Given the description of an element on the screen output the (x, y) to click on. 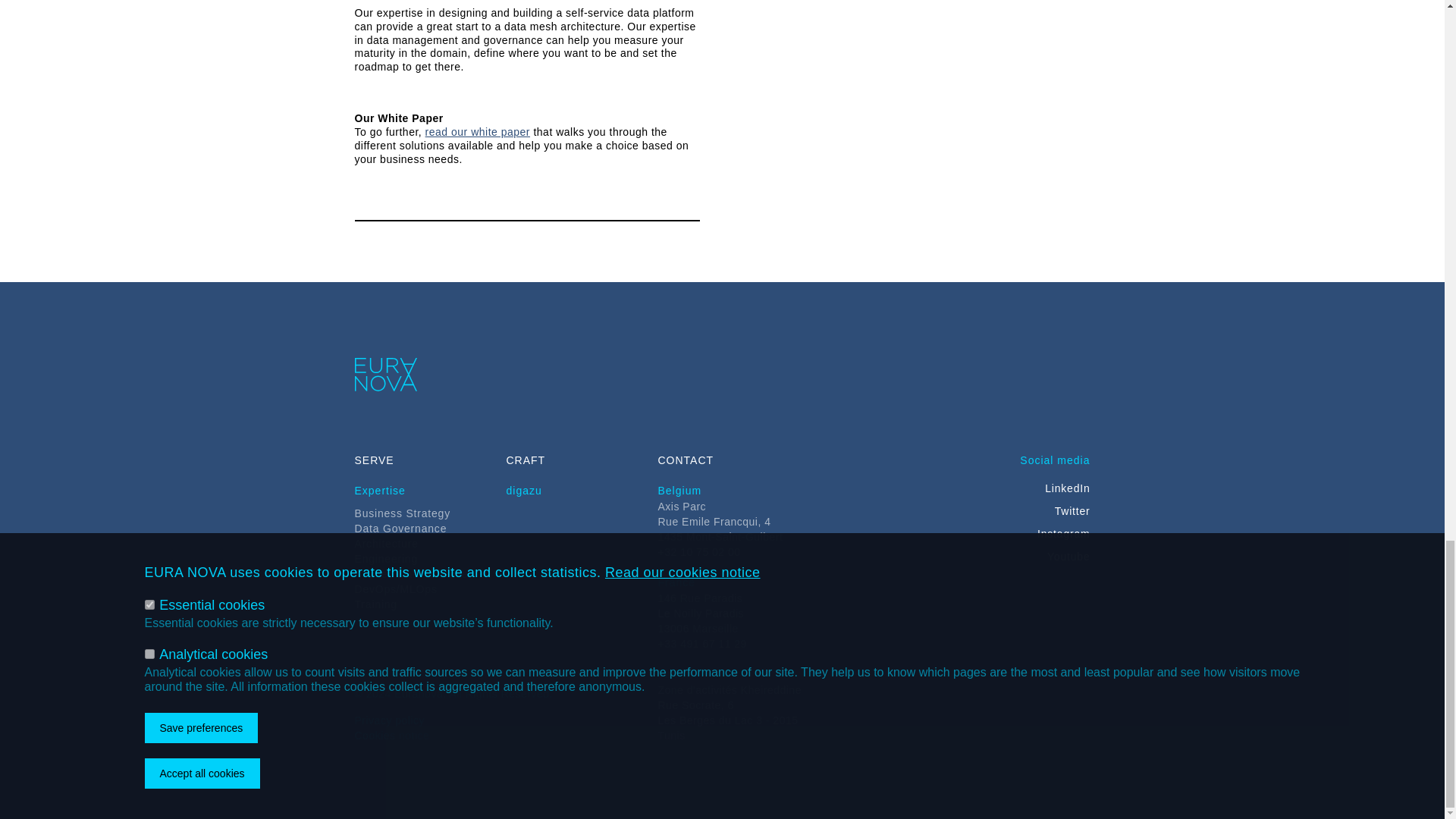
SERVE (374, 460)
Engineering (387, 558)
Architecture (387, 543)
read our white paper (477, 132)
CRAFT (526, 460)
Training (376, 604)
Data Governance (400, 528)
Business Strategy (402, 513)
Applied Data Science (411, 573)
